Given the description of an element on the screen output the (x, y) to click on. 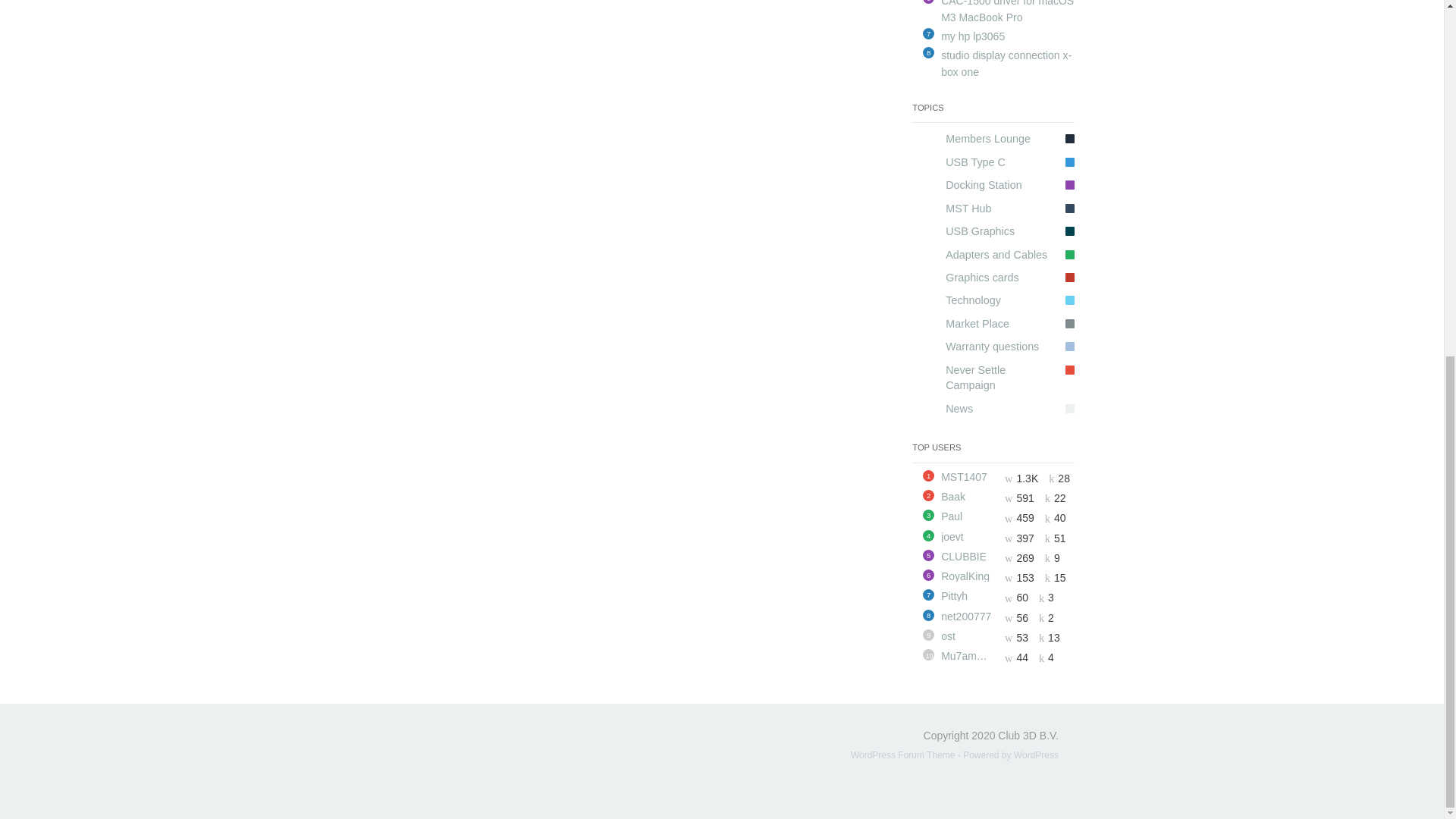
net200777 (967, 615)
Baak (967, 496)
Pittyh (967, 595)
Mu7ammad (967, 655)
RoyalKing (967, 575)
CLUBBIE (967, 556)
ost (967, 635)
Paul (967, 516)
MST1407 (967, 476)
joevt (967, 536)
